Given the description of an element on the screen output the (x, y) to click on. 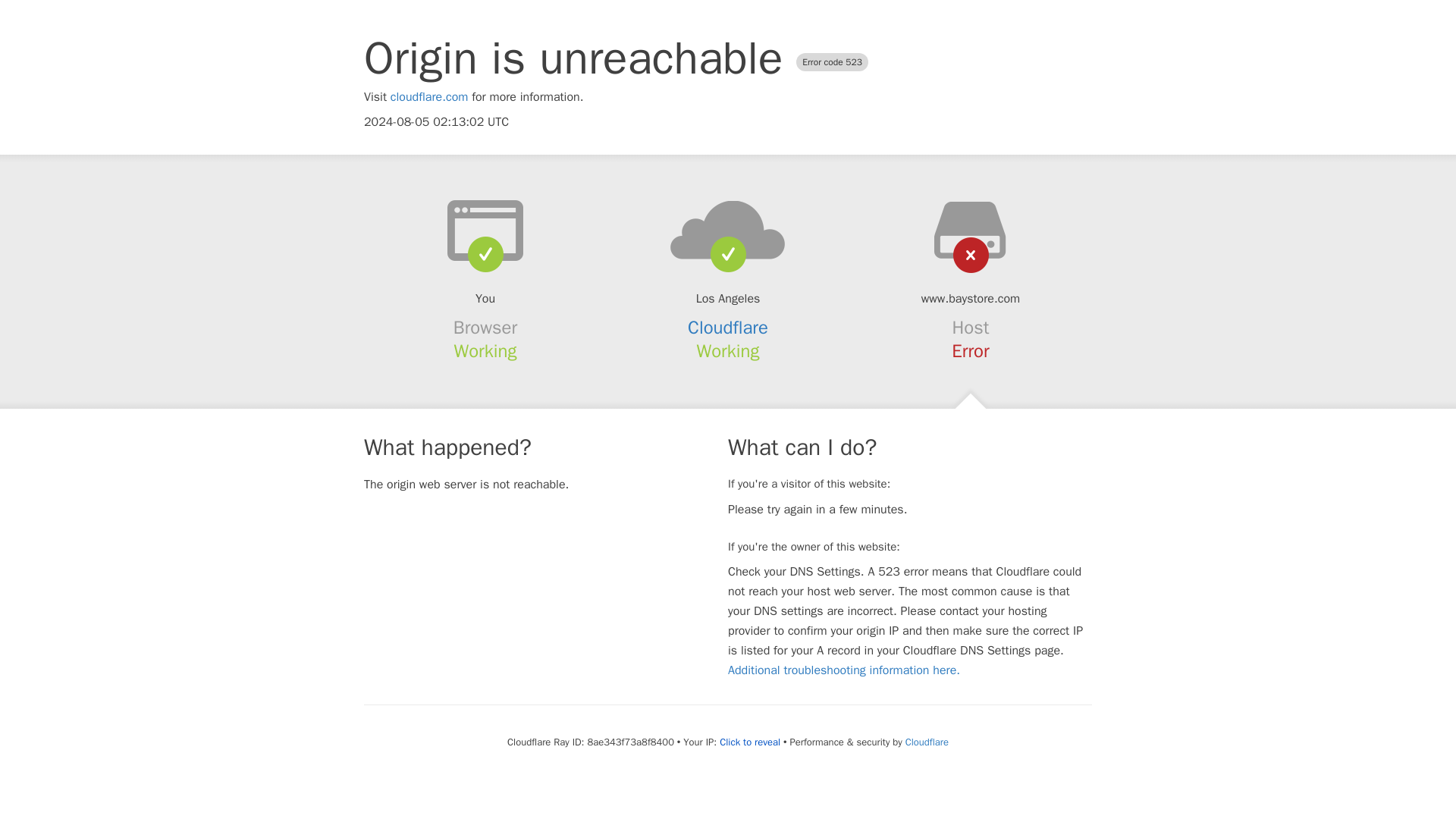
Cloudflare (727, 327)
Click to reveal (749, 742)
Cloudflare (927, 741)
cloudflare.com (429, 96)
Additional troubleshooting information here. (843, 670)
